Given the description of an element on the screen output the (x, y) to click on. 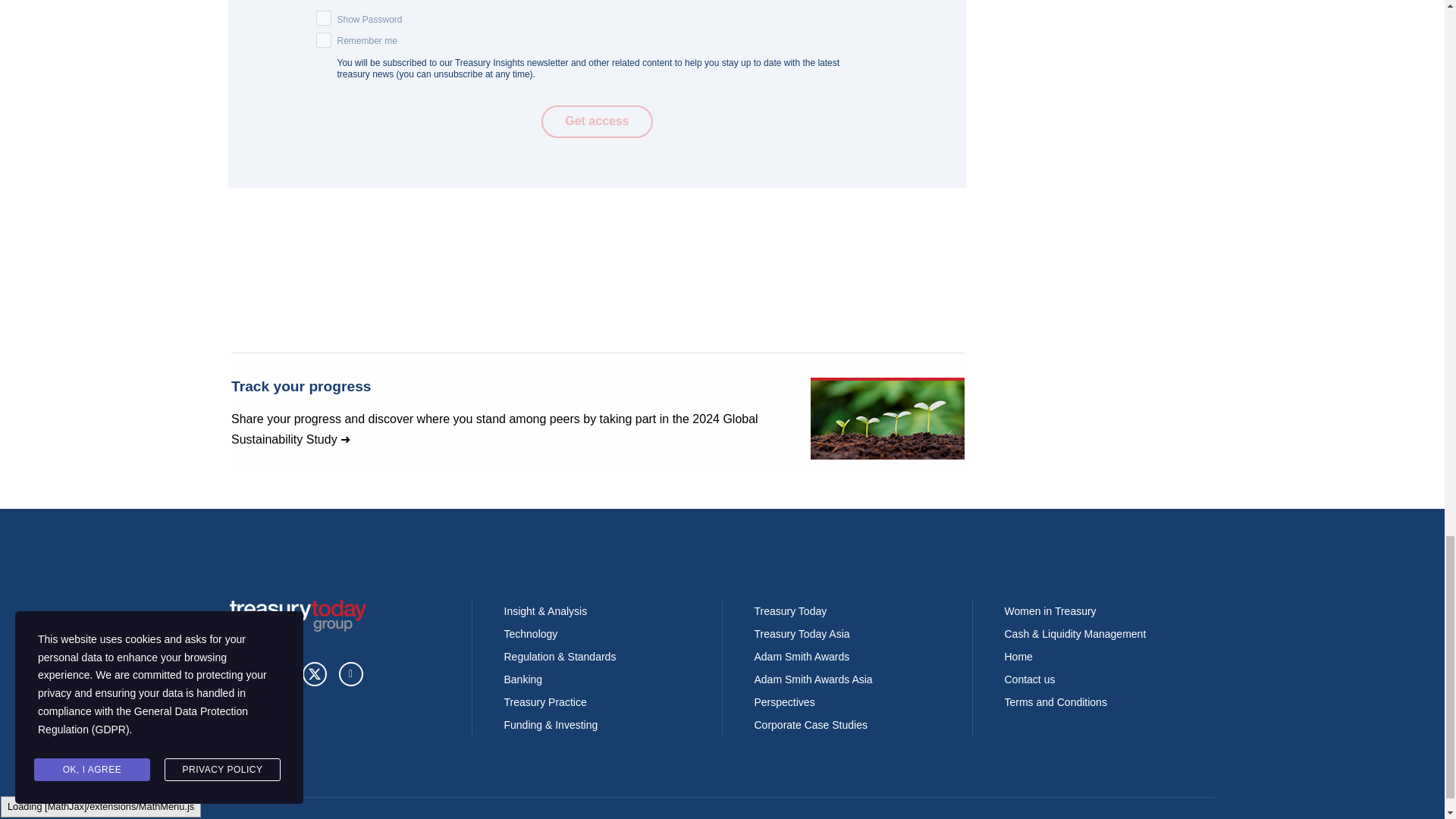
3rd party ad content (596, 409)
on (322, 17)
on (322, 39)
